Given the description of an element on the screen output the (x, y) to click on. 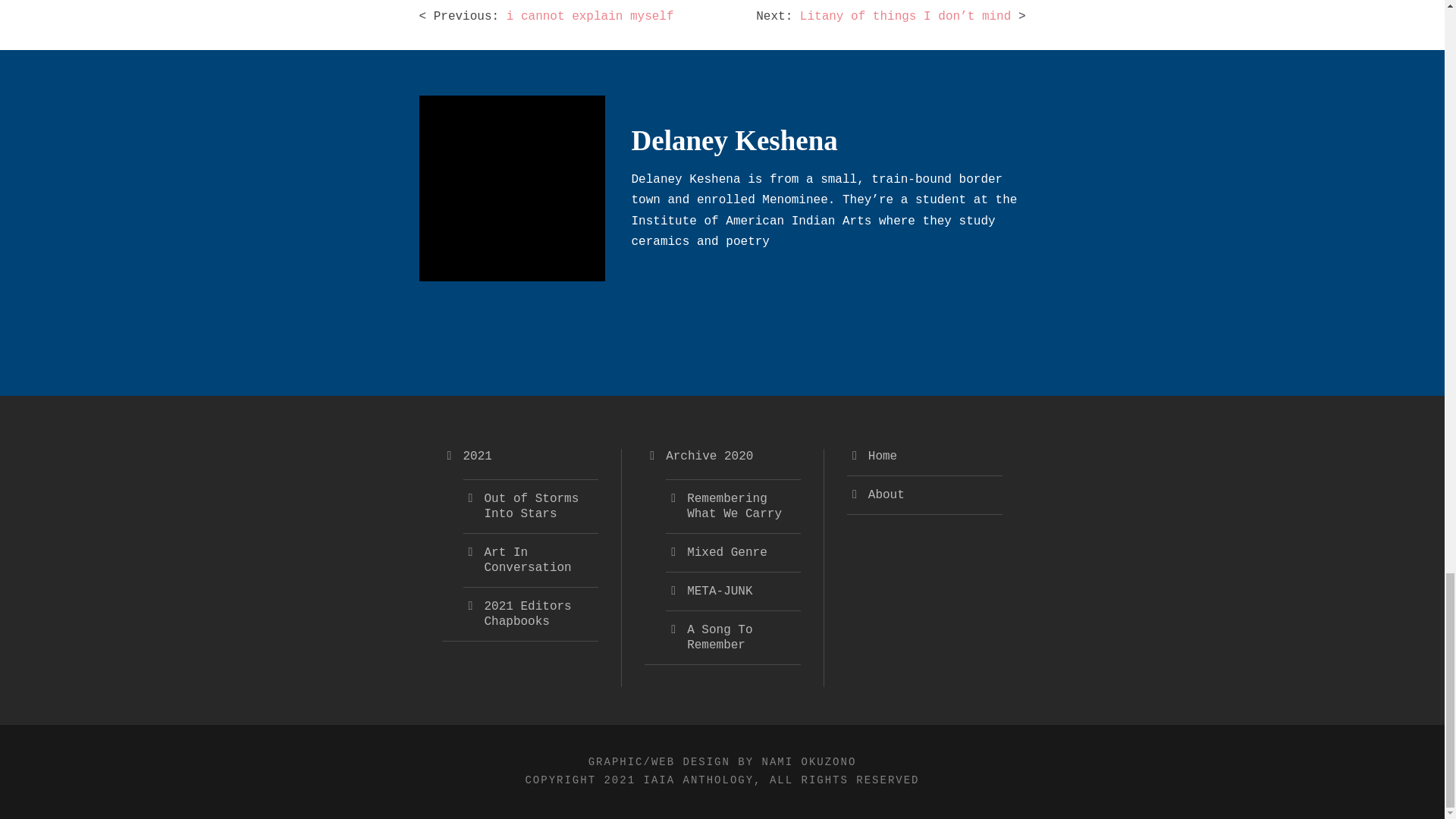
i cannot explain myself (590, 16)
i cannot explain myself (590, 16)
Delaney Keshena (733, 140)
